Given the description of an element on the screen output the (x, y) to click on. 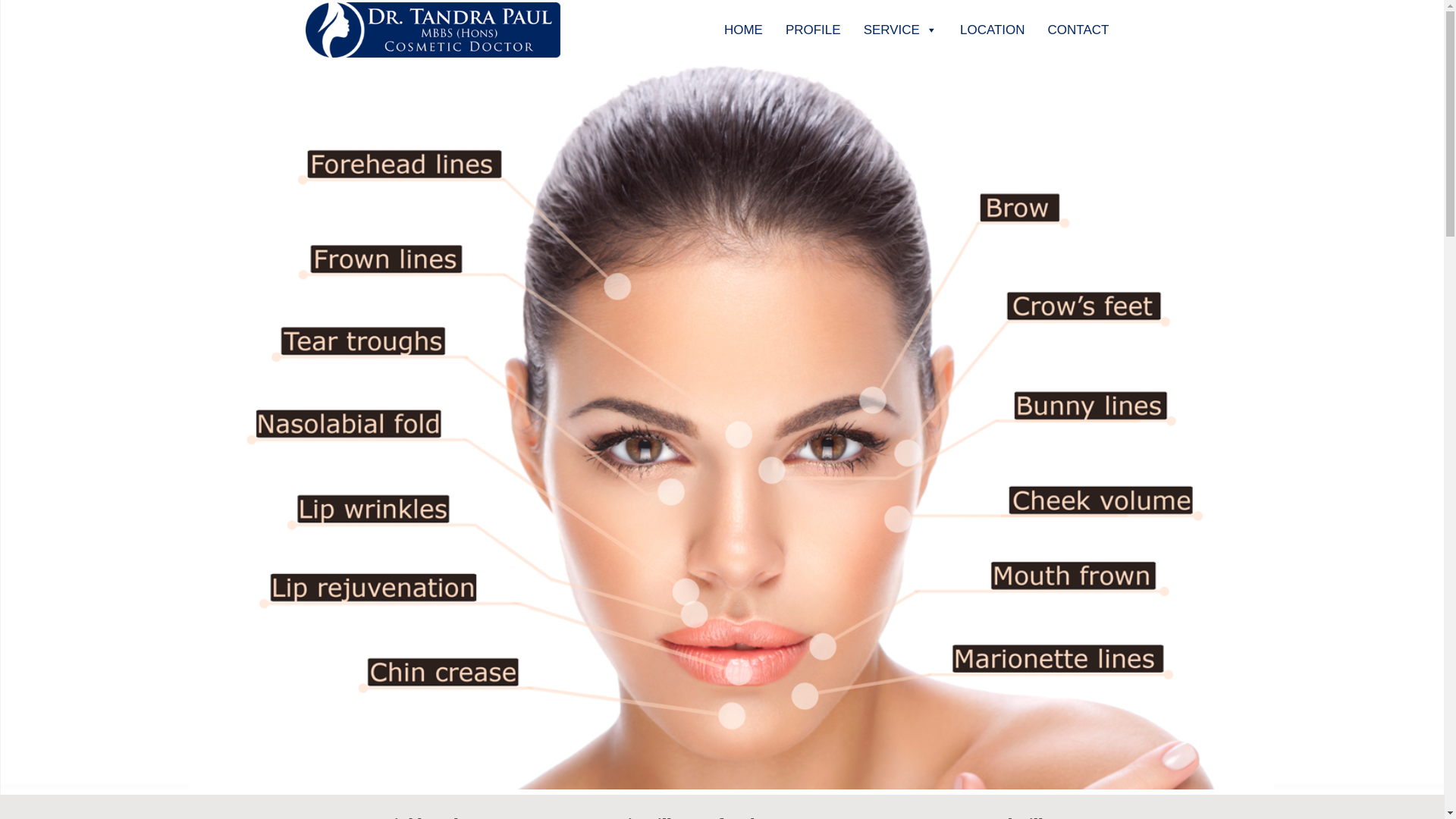
CONTACT Element type: text (1078, 24)
PROFILE Element type: text (813, 24)
HOME Element type: text (743, 24)
Skip to content Element type: text (716, 2)
SERVICE Element type: text (900, 24)
LOCATION Element type: text (992, 24)
